Given the description of an element on the screen output the (x, y) to click on. 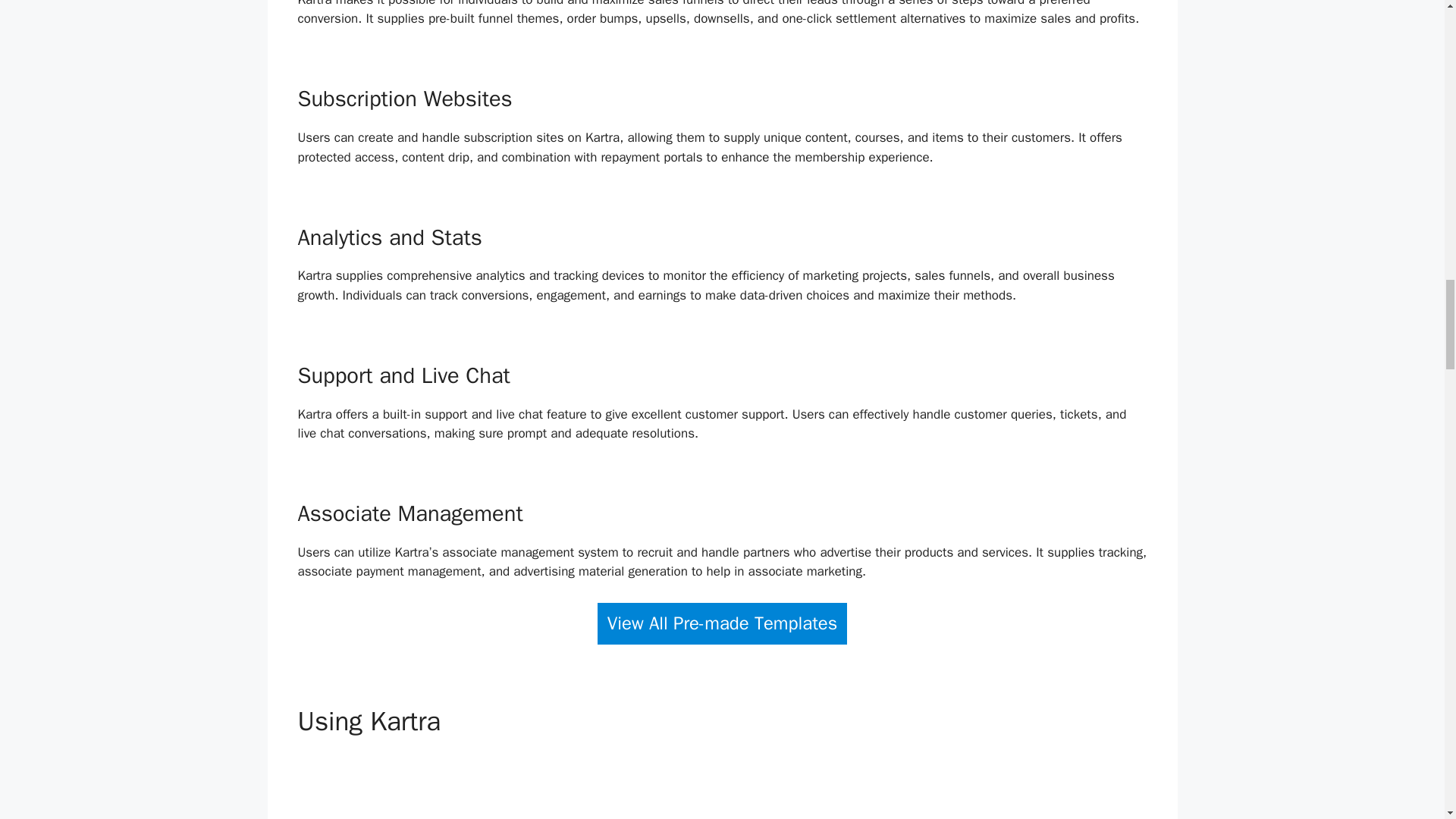
View All Pre-made Templates (721, 623)
